Given the description of an element on the screen output the (x, y) to click on. 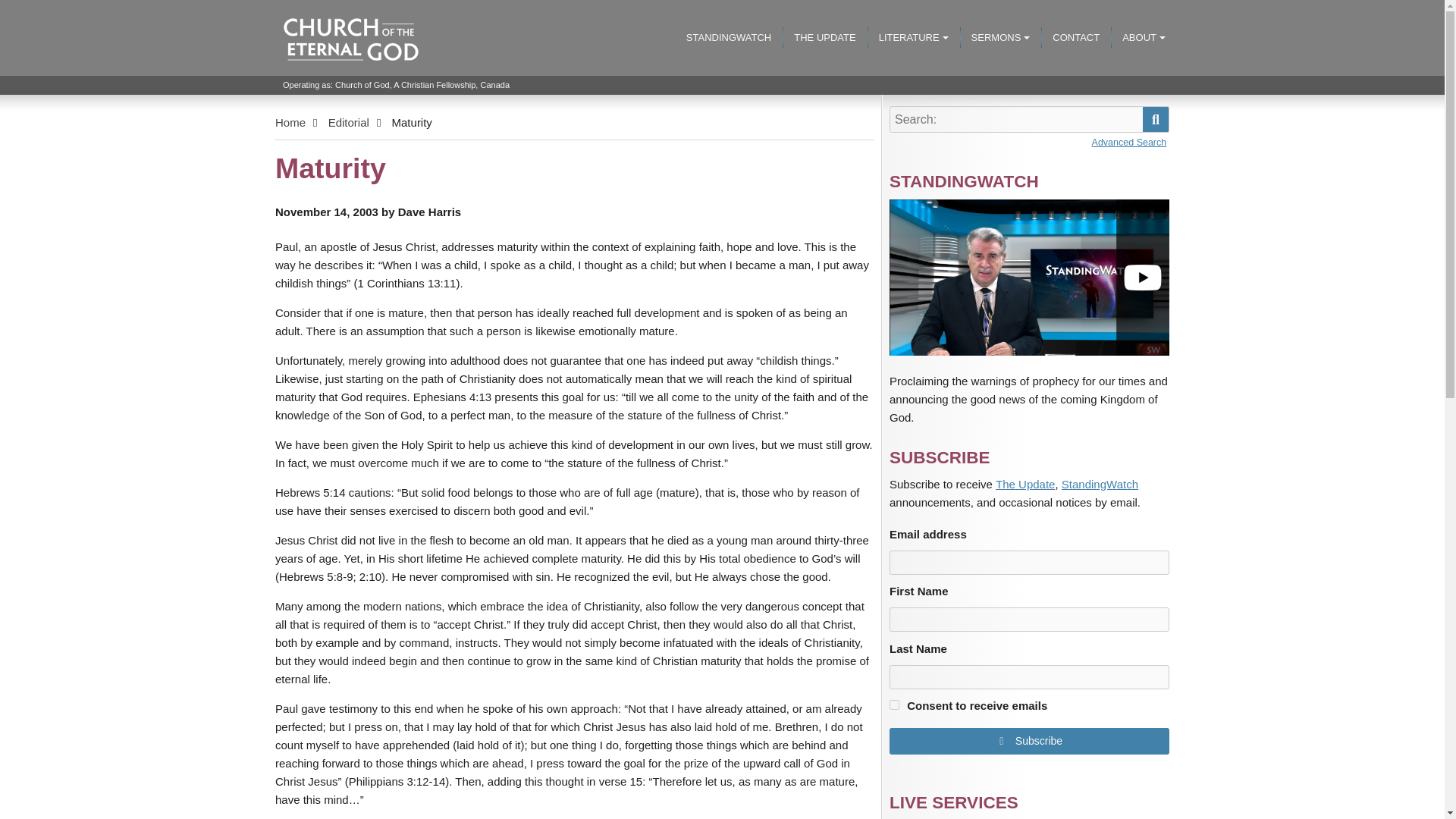
StandingWatch (1099, 484)
LITERATURE (913, 38)
The Update (1024, 484)
Advanced Search (1129, 142)
Church of the Eternal God (332, 116)
THE UPDATE (824, 38)
CONTACT (1075, 38)
Search (1155, 119)
StandingWatch program (1029, 277)
ABOUT (1143, 38)
